Given the description of an element on the screen output the (x, y) to click on. 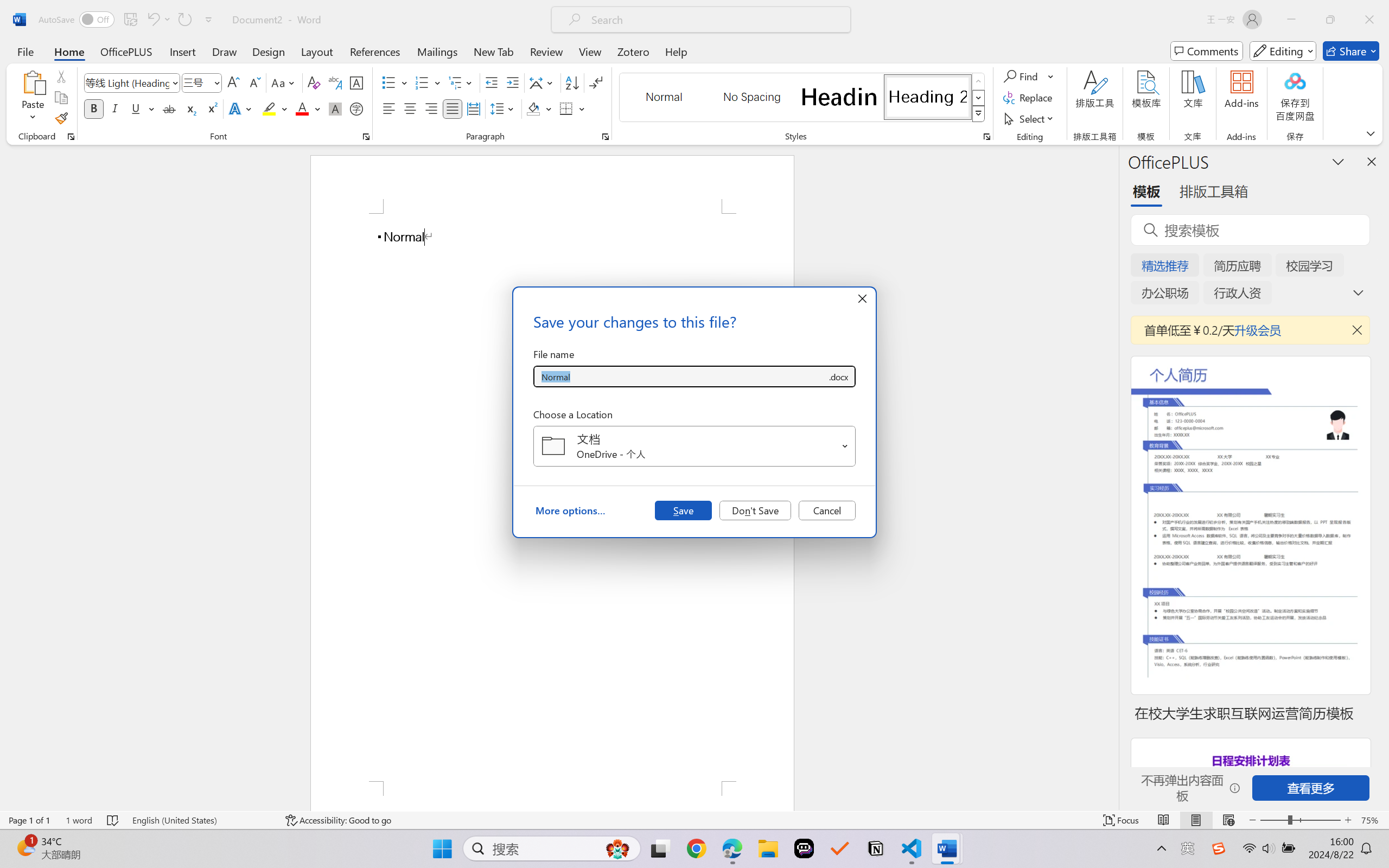
References (375, 51)
Multilevel List (461, 82)
Cut (60, 75)
Text Effects and Typography (241, 108)
Microsoft search (715, 19)
Ribbon Display Options (1370, 132)
File Tab (24, 51)
Class: MsoCommandBar (694, 819)
Heading 2 (927, 96)
Zoom In (1348, 819)
